Given the description of an element on the screen output the (x, y) to click on. 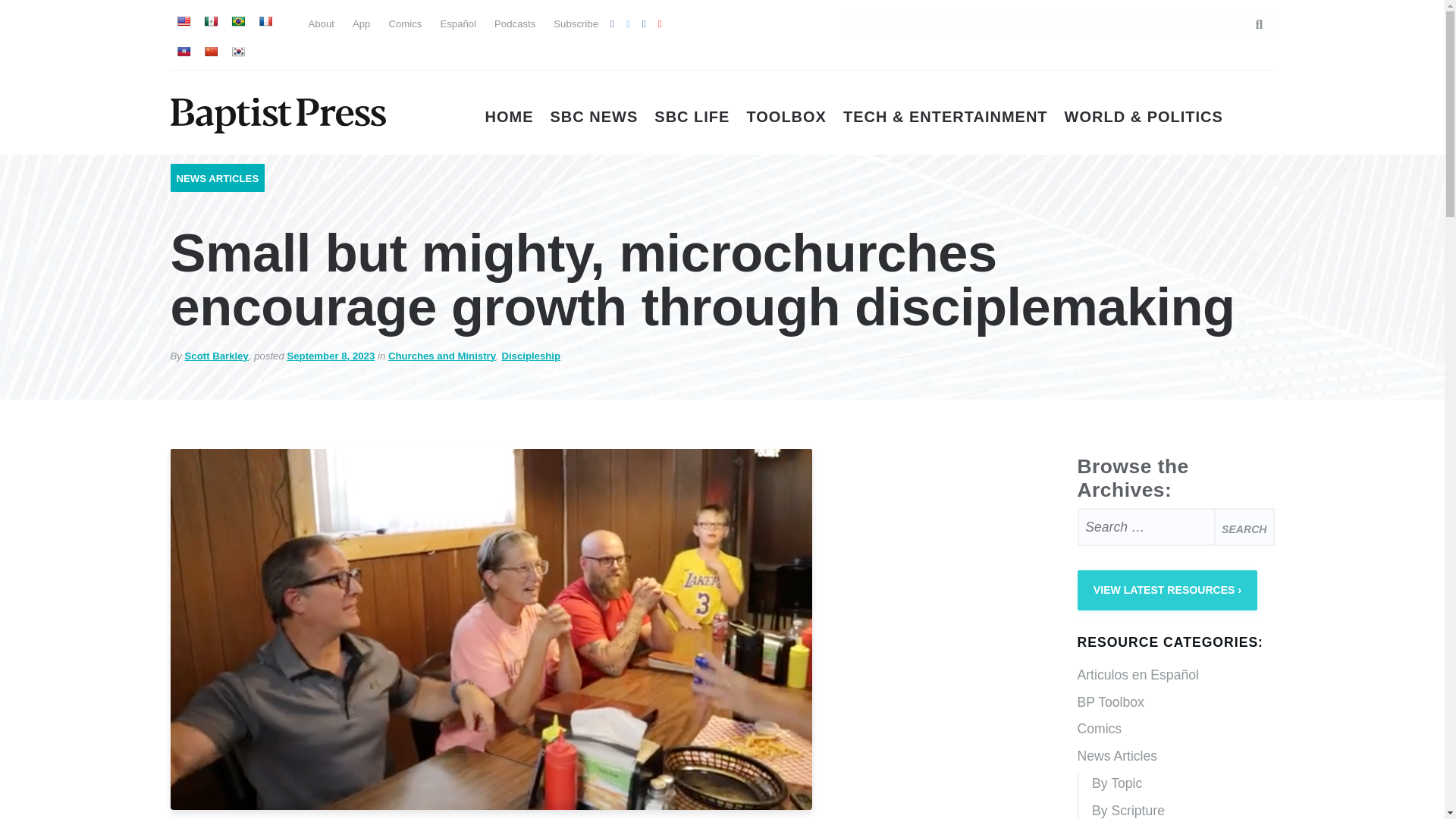
Podcasts (515, 23)
Portuguese (237, 21)
Search (1244, 526)
Search (1244, 526)
About (320, 23)
App (360, 23)
French (263, 21)
SBC NEWS (594, 116)
September 8, 2023 (330, 355)
Korean (237, 51)
Haitian (182, 51)
HOME (509, 116)
English (182, 21)
Search (1251, 24)
Discipleship (530, 355)
